Given the description of an element on the screen output the (x, y) to click on. 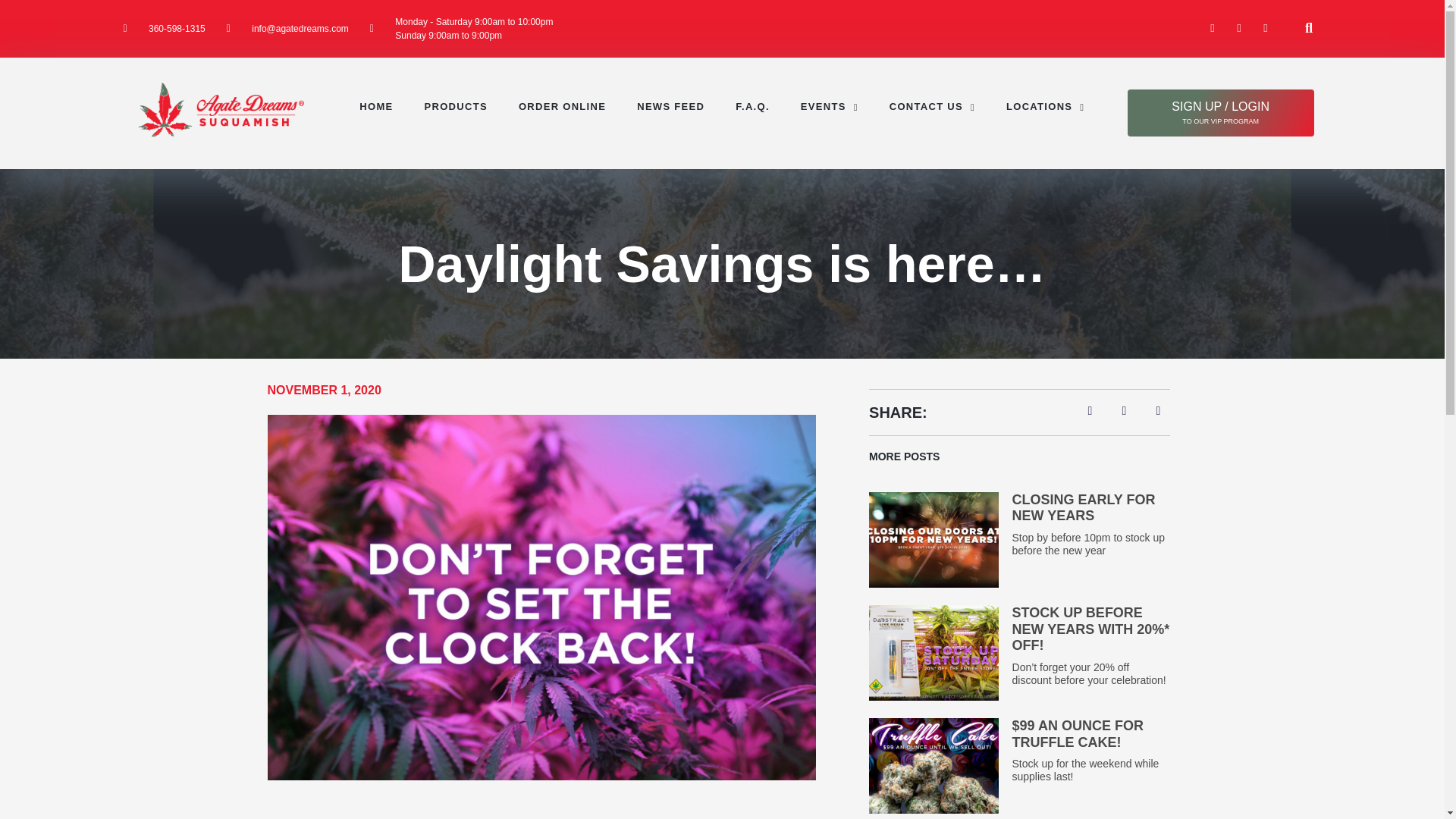
CONTACT US (932, 106)
CLOSING EARLY FOR NEW YEARS (1083, 508)
EVENTS (829, 106)
ORDER ONLINE (561, 106)
NEWS FEED (670, 106)
LOCATIONS (1045, 106)
HOME (375, 106)
PRODUCTS (455, 106)
F.A.Q. (752, 106)
NOVEMBER 1, 2020 (323, 390)
